Given the description of an element on the screen output the (x, y) to click on. 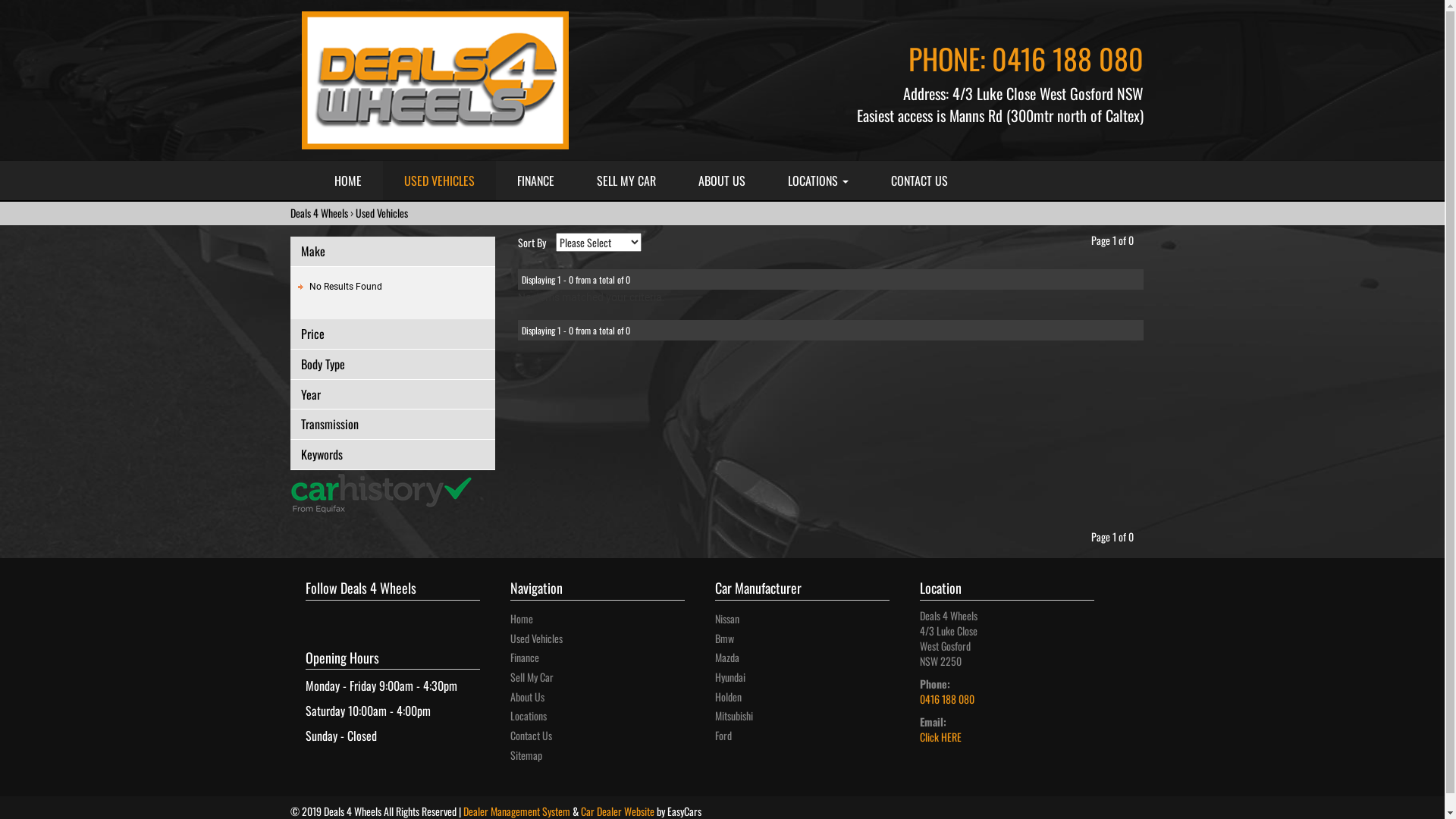
Used Vehicles Element type: text (380, 212)
SELL MY CAR Element type: text (625, 180)
Car Dealer Website Element type: text (617, 810)
Used Vehicles Element type: text (535, 638)
Sitemap Element type: text (525, 754)
Contact Us Element type: text (530, 735)
Ford Element type: text (722, 735)
0416 188 080 Element type: text (946, 698)
FINANCE Element type: text (535, 180)
Finance Element type: text (523, 657)
LOCATIONS Element type: text (817, 180)
Visit our Google+ page Element type: hover (319, 613)
Sell My Car Element type: text (530, 676)
Bmw Element type: text (723, 638)
0416 188 080 Element type: text (1067, 58)
Visit our pinterest page Element type: hover (338, 613)
Visit our twitter page Element type: hover (328, 613)
ABOUT US Element type: text (720, 180)
Hyundai Element type: text (729, 676)
Holden Element type: text (727, 696)
Home Element type: text (520, 618)
Visit our facebook page Element type: hover (308, 613)
About Us Element type: text (526, 696)
CONTACT US Element type: text (918, 180)
Dealer Management System Element type: text (515, 810)
Mitsubishi Element type: text (733, 715)
Mazda Element type: text (726, 657)
USED VEHICLES Element type: text (438, 180)
Locations Element type: text (527, 715)
Click HERE Element type: text (939, 736)
Nissan Element type: text (726, 618)
Deals 4 Wheels Element type: text (318, 212)
HOME Element type: text (347, 180)
